Given the description of an element on the screen output the (x, y) to click on. 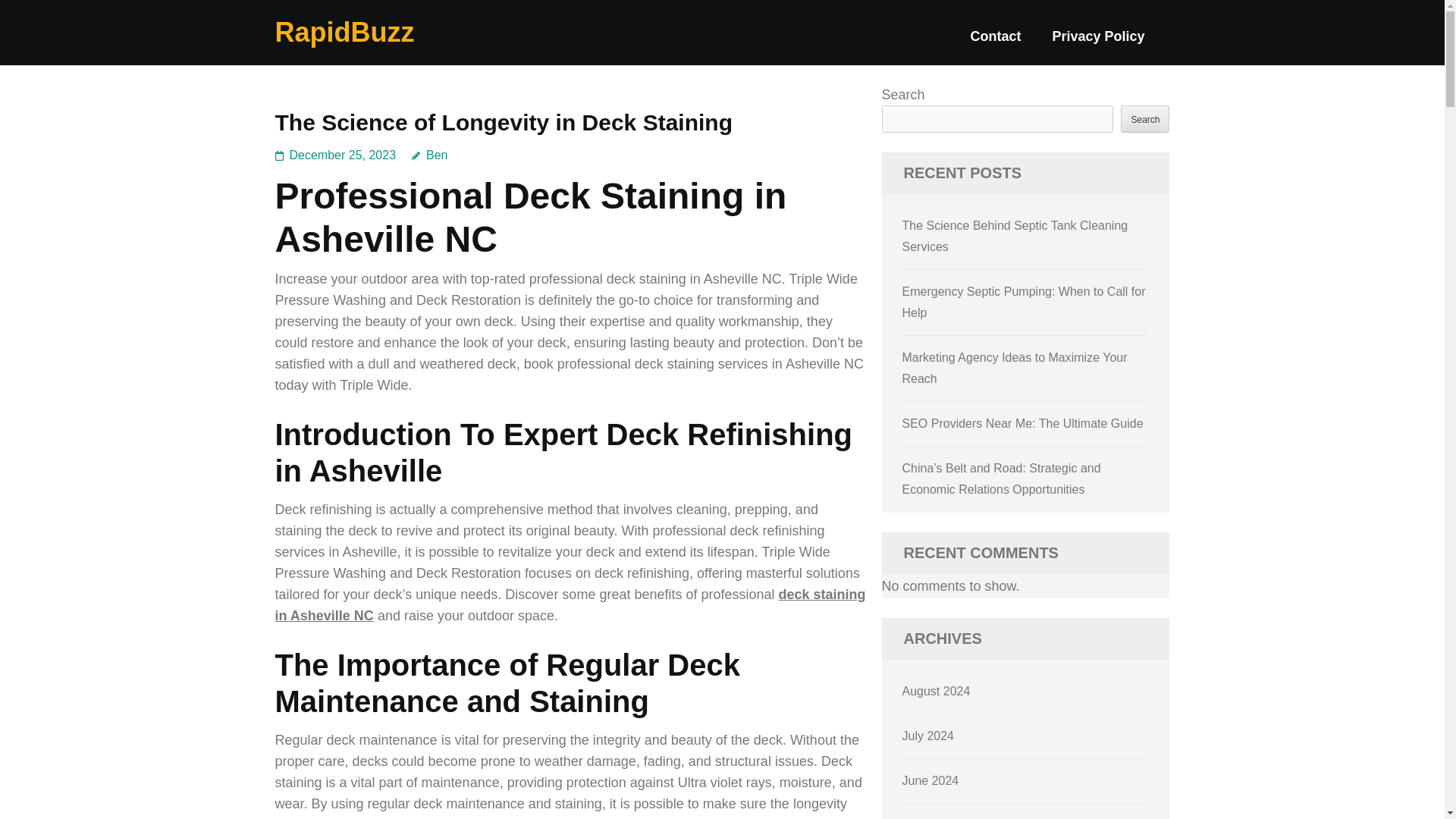
Search (1145, 118)
deck staining in Asheville NC (569, 605)
Contact (994, 42)
SEO Providers Near Me: The Ultimate Guide (1022, 422)
August 2024 (936, 690)
Emergency Septic Pumping: When to Call for Help (1023, 302)
July 2024 (928, 735)
June 2024 (930, 780)
December 25, 2023 (342, 154)
RapidBuzz (344, 31)
